Given the description of an element on the screen output the (x, y) to click on. 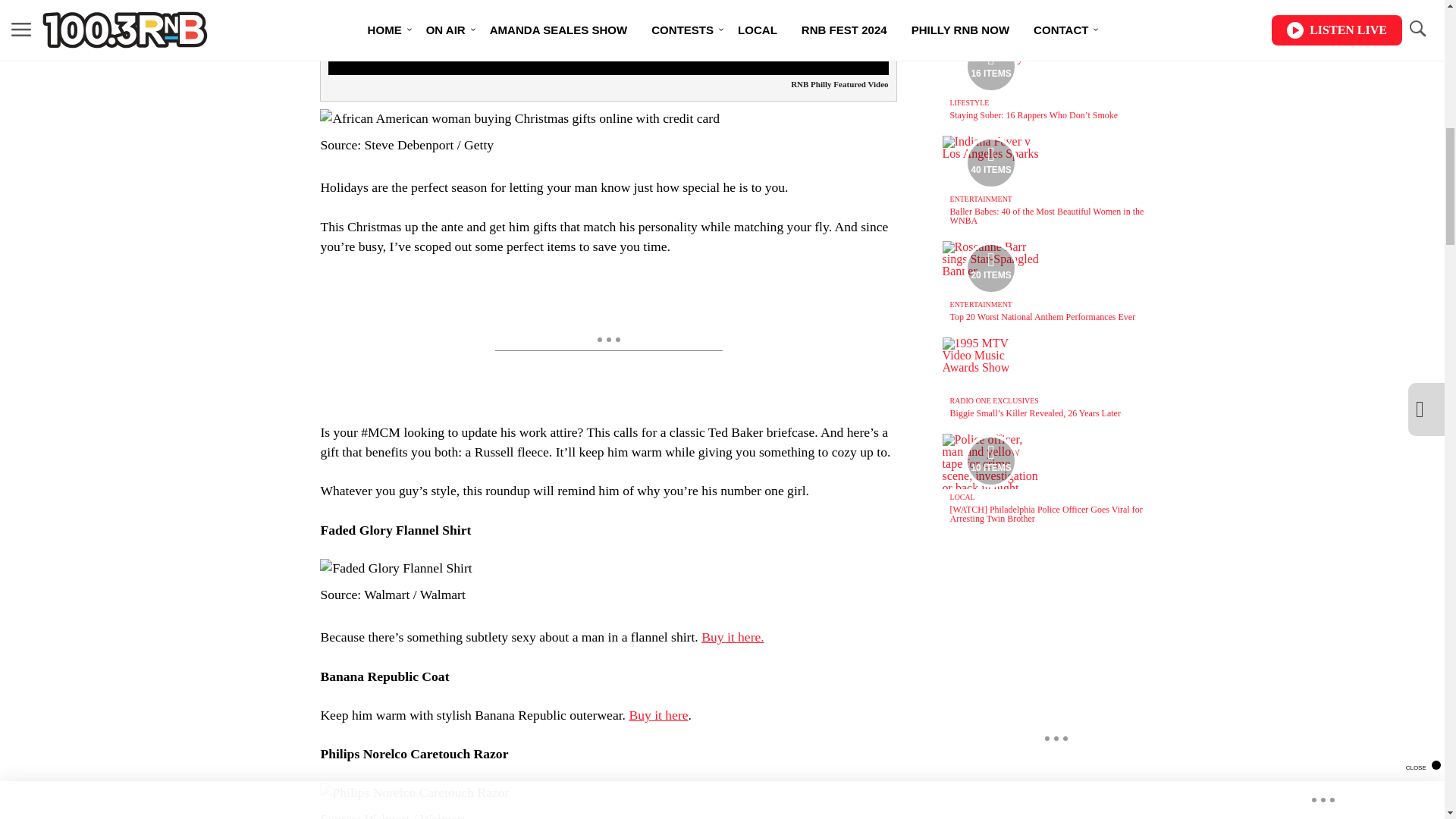
Media Playlist (990, 162)
Media Playlist (990, 267)
Buy it here (657, 714)
Media Playlist (990, 66)
Buy it here. (732, 636)
Media Playlist (990, 460)
